Given the description of an element on the screen output the (x, y) to click on. 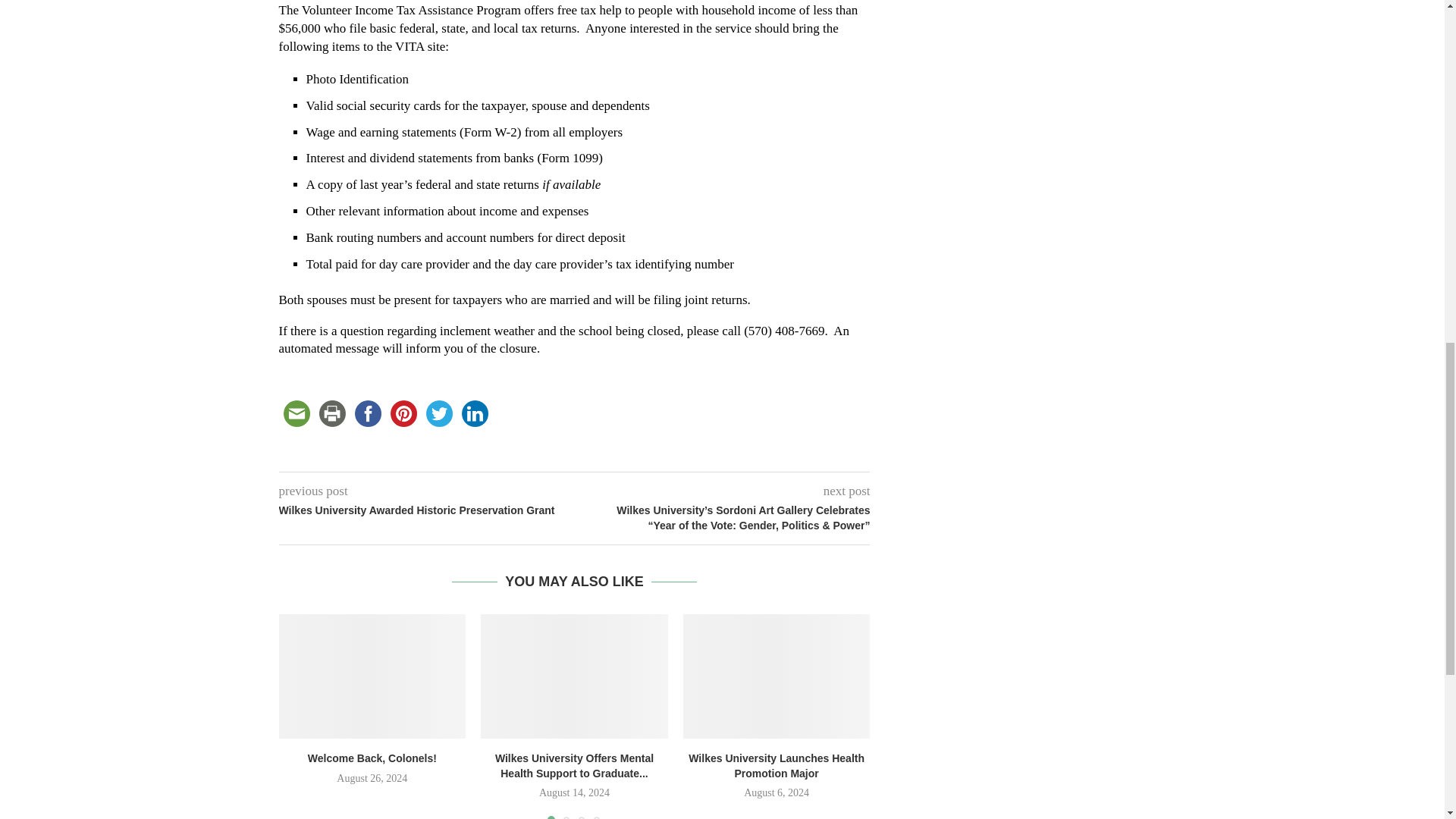
facebook (367, 413)
Welcome Back, Colonels! (371, 758)
print (331, 413)
pinterest (402, 413)
email (296, 413)
twitter (439, 413)
Wilkes University Launches Health Promotion Major (776, 765)
linkedin (474, 413)
Wilkes University Awarded Historic Preservation Grant (427, 510)
